Given the description of an element on the screen output the (x, y) to click on. 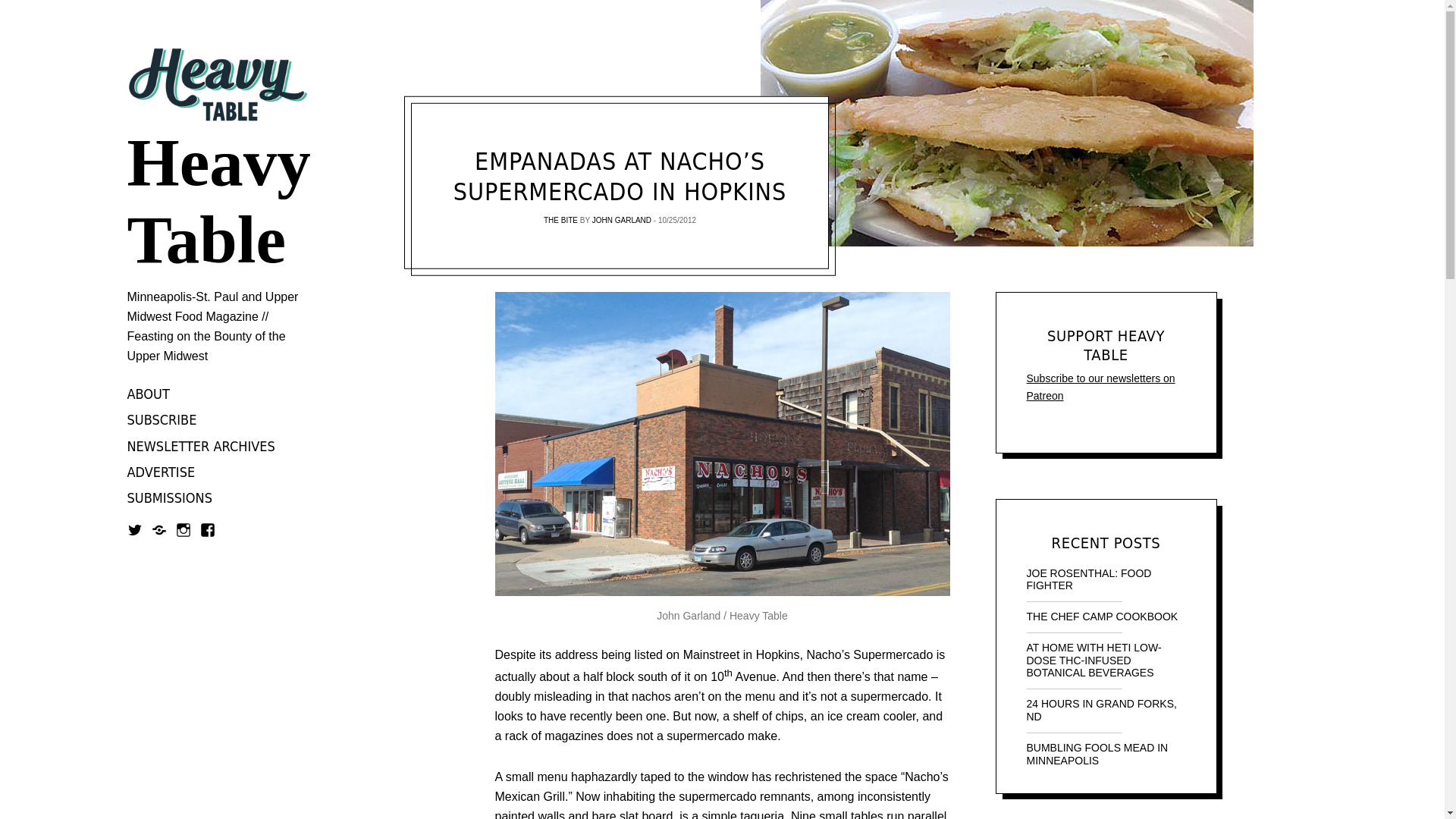
24 HOURS IN GRAND FORKS, ND (1106, 710)
THE BITE (560, 220)
NEWSLETTER ARCHIVES (201, 446)
JOHN GARLAND (621, 220)
ADVERTISE (161, 472)
Heavy Table (218, 201)
THE CHEF CAMP COOKBOOK (1106, 616)
SUBMISSIONS (170, 498)
JOE ROSENTHAL: FOOD FIGHTER (1106, 579)
